Given the description of an element on the screen output the (x, y) to click on. 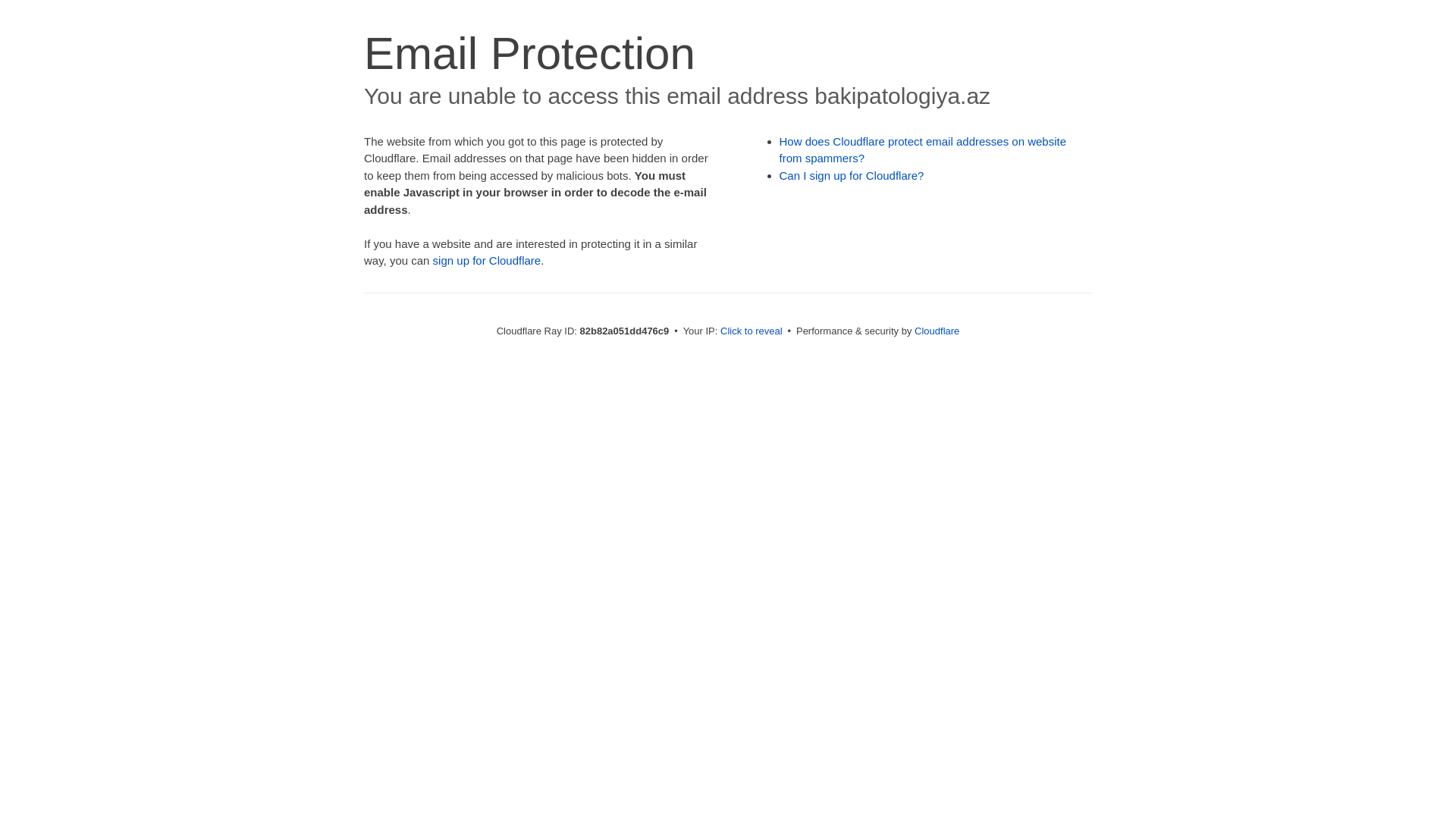
Click to reveal Element type: text (751, 330)
sign up for Cloudflare Element type: text (487, 260)
Can I sign up for Cloudflare? Element type: text (851, 175)
Cloudflare Element type: text (936, 330)
